Given the description of an element on the screen output the (x, y) to click on. 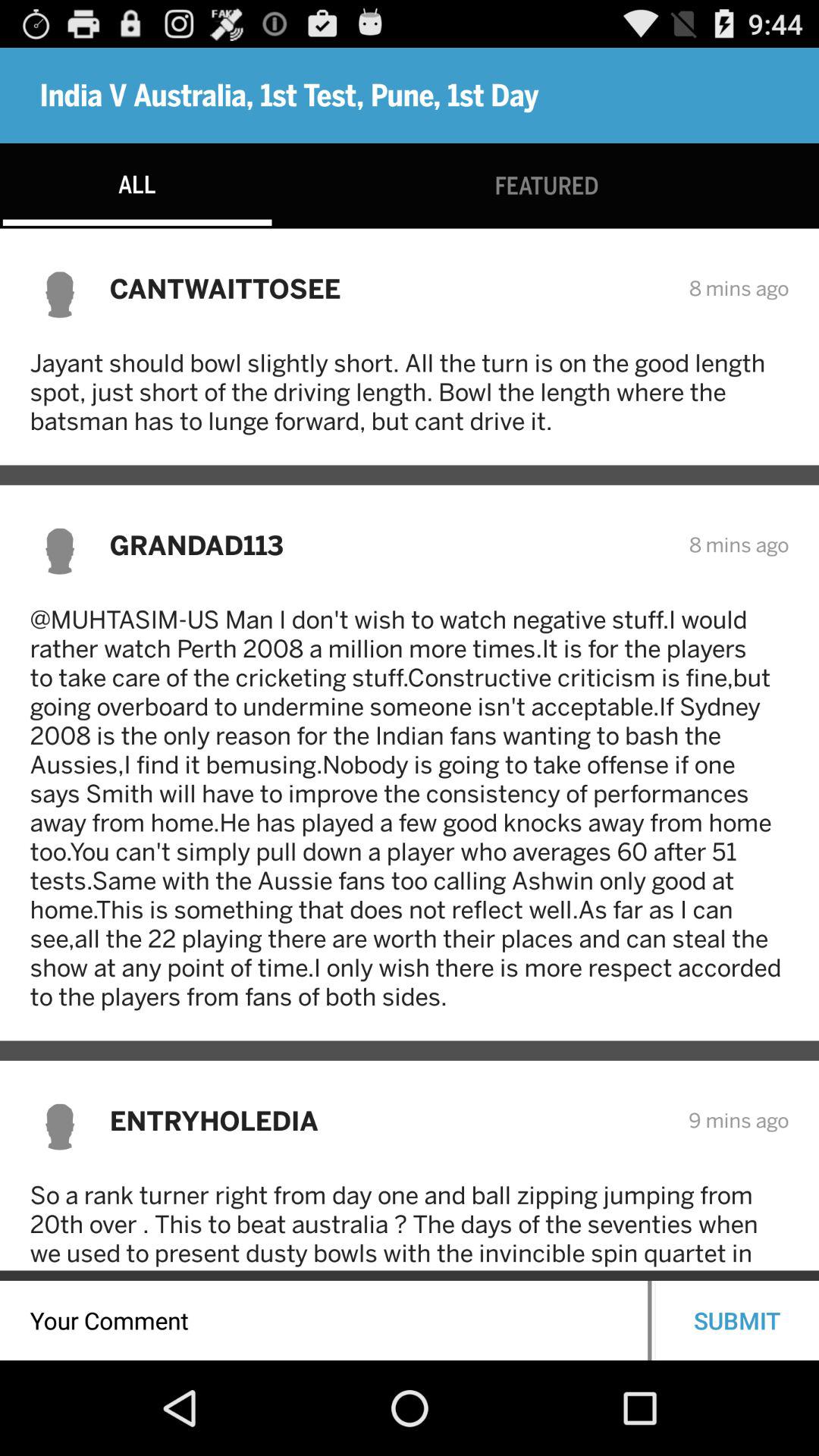
open the submit icon (737, 1320)
